Given the description of an element on the screen output the (x, y) to click on. 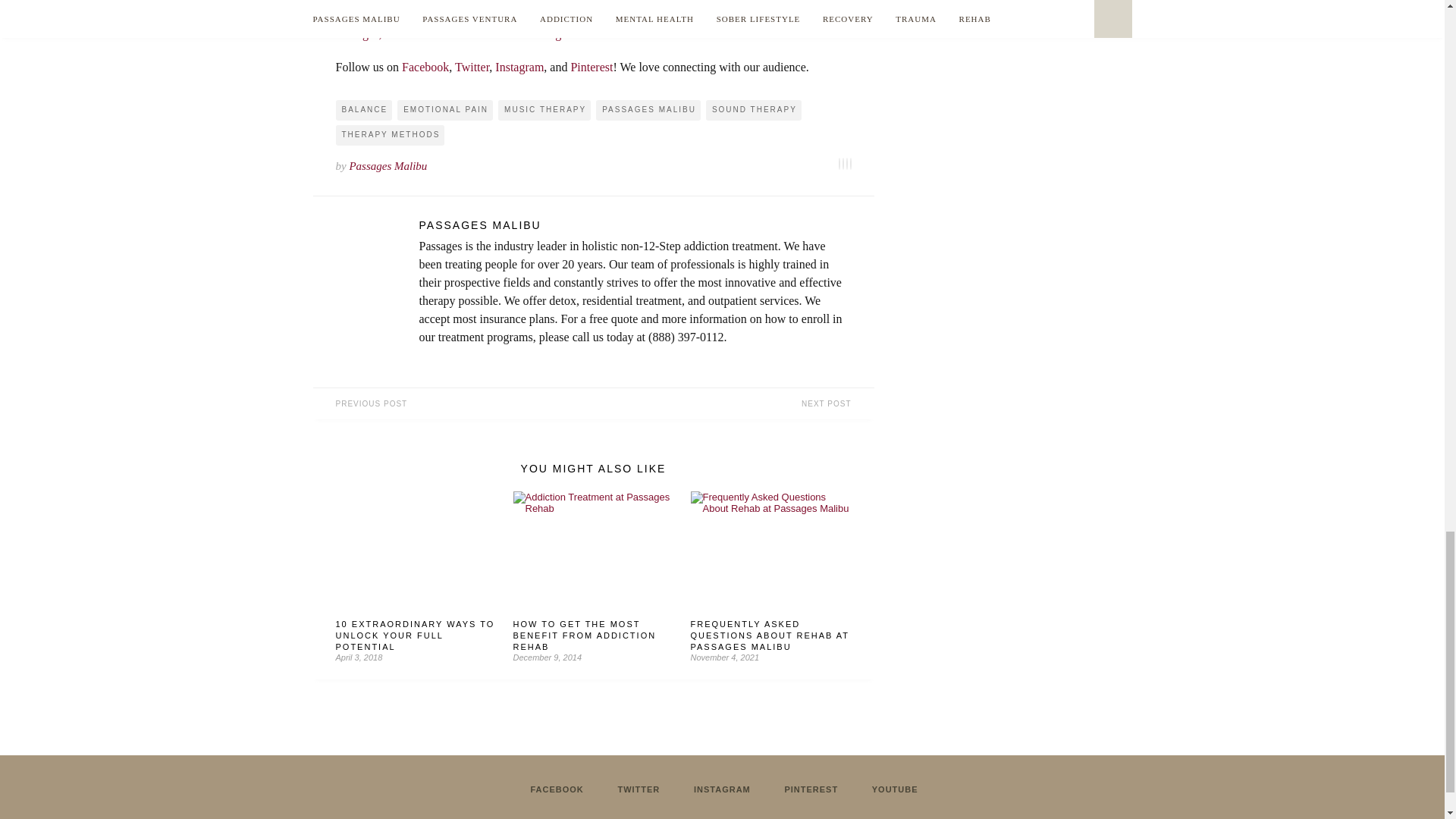
EMOTIONAL PAIN (445, 109)
Posts by Passages Malibu (634, 224)
Twitter (471, 66)
NEXT POST (732, 403)
Instagram (519, 66)
Passages Malibu (387, 165)
MUSIC THERAPY (544, 109)
PASSAGES MALIBU (634, 224)
Facebook (424, 66)
SOUND THERAPY (754, 109)
BALANCE (362, 109)
THERAPY METHODS (389, 135)
Pinterest (591, 66)
Posts by Passages Malibu (387, 165)
PREVIOUS POST (452, 403)
